Given the description of an element on the screen output the (x, y) to click on. 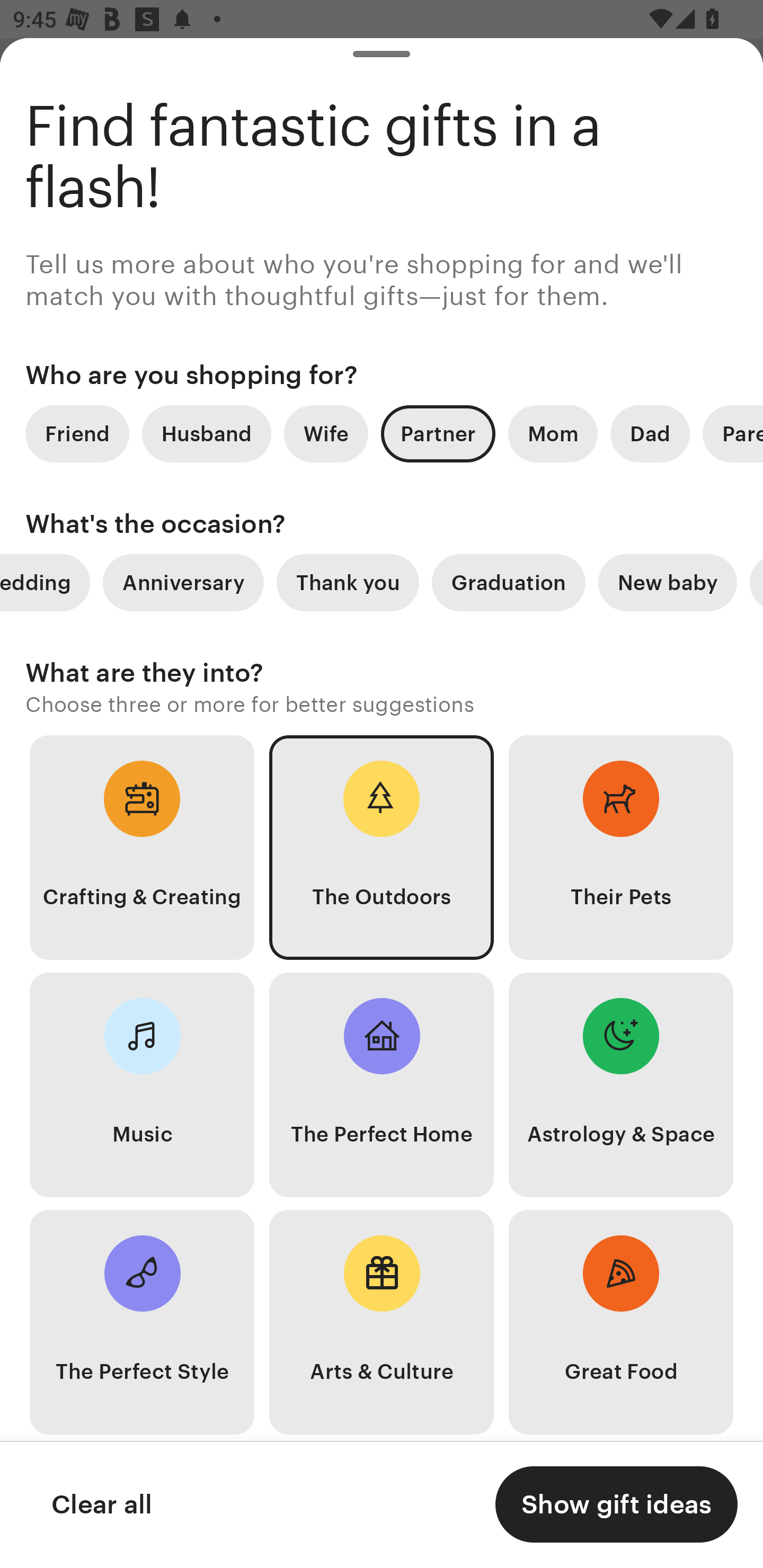
Friend (76, 433)
Husband (206, 433)
Wife (325, 433)
Partner (437, 433)
Mom (552, 433)
Dad (649, 433)
Anniversary (183, 582)
Thank you (347, 582)
Graduation (508, 582)
New baby (667, 582)
Crafting & Creating (141, 847)
The Outdoors (381, 847)
Their Pets (620, 847)
Music (141, 1084)
The Perfect Home (381, 1084)
Astrology & Space (620, 1084)
The Perfect Style (141, 1322)
Arts & Culture (381, 1322)
Great Food (620, 1322)
Clear all (101, 1504)
Show gift ideas (616, 1504)
